Given the description of an element on the screen output the (x, y) to click on. 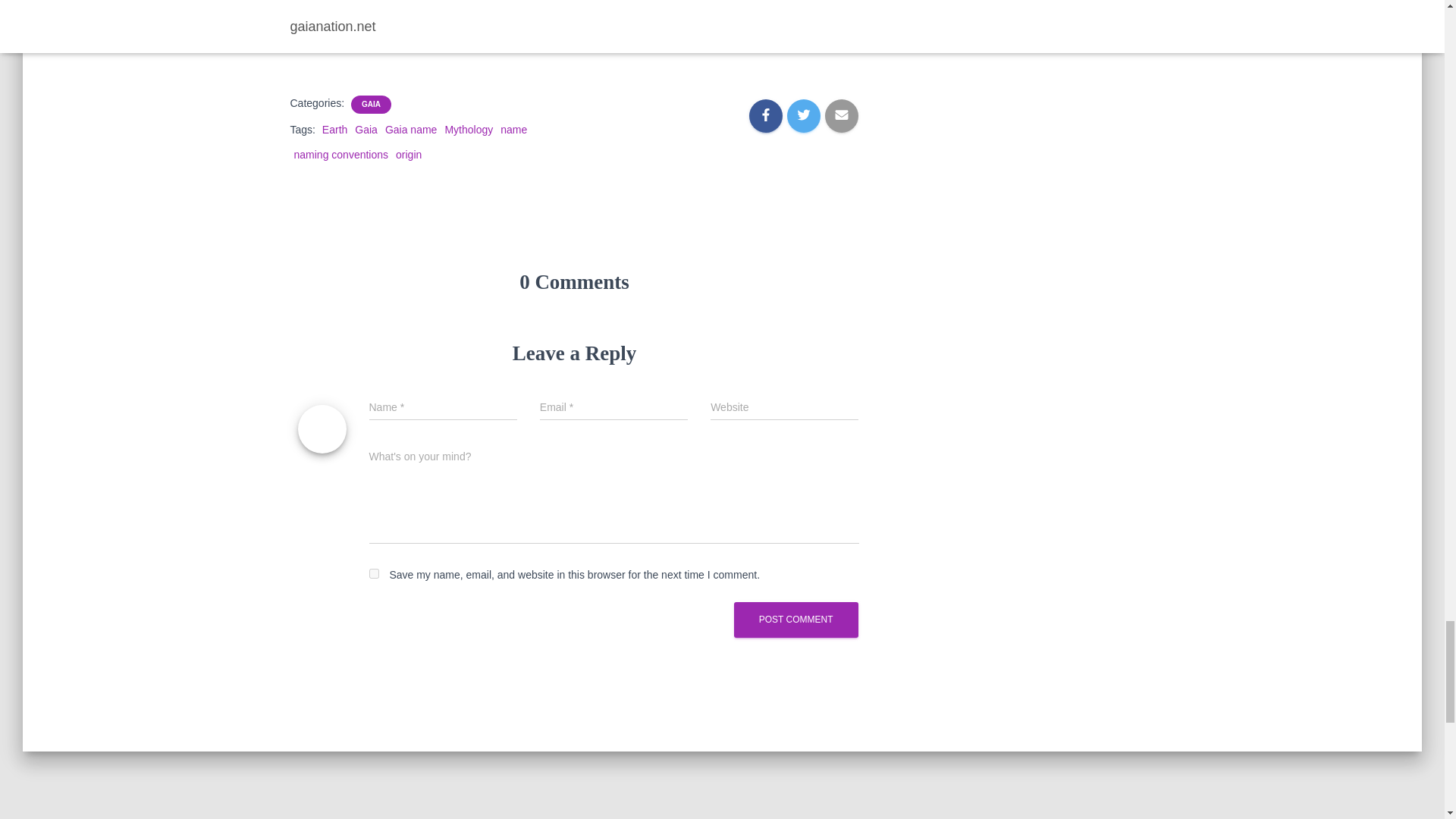
Mythology (468, 129)
Post Comment (796, 619)
Earth (334, 129)
Gaia (366, 129)
GAIA (370, 104)
Post Comment (796, 619)
origin (409, 154)
Gaia name (410, 129)
yes (373, 573)
name (513, 129)
